Given the description of an element on the screen output the (x, y) to click on. 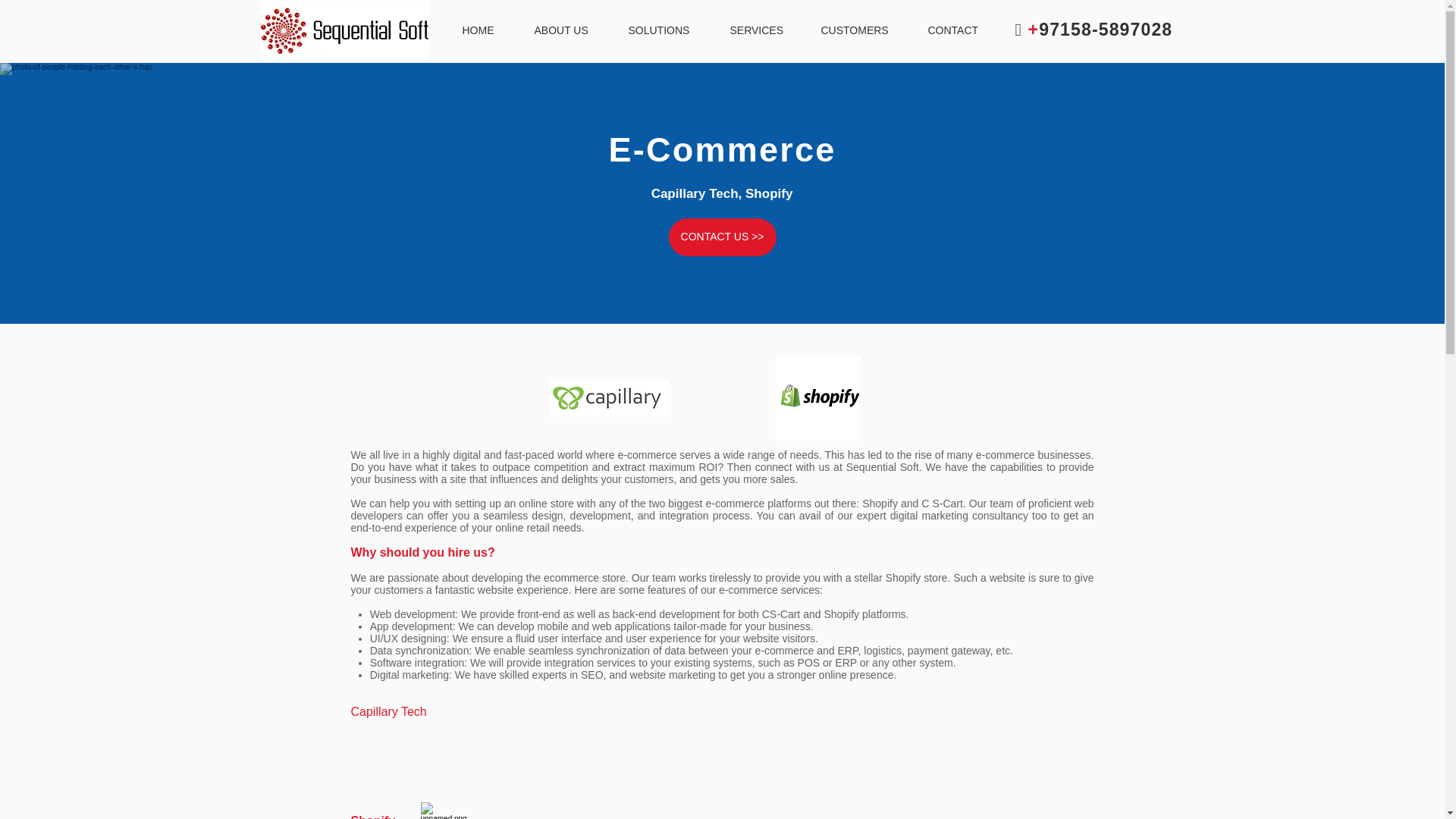
CONTACT (962, 30)
SERVICES (764, 30)
CUSTOMERS (863, 30)
ABOUT US (569, 30)
HOME (485, 30)
